Given the description of an element on the screen output the (x, y) to click on. 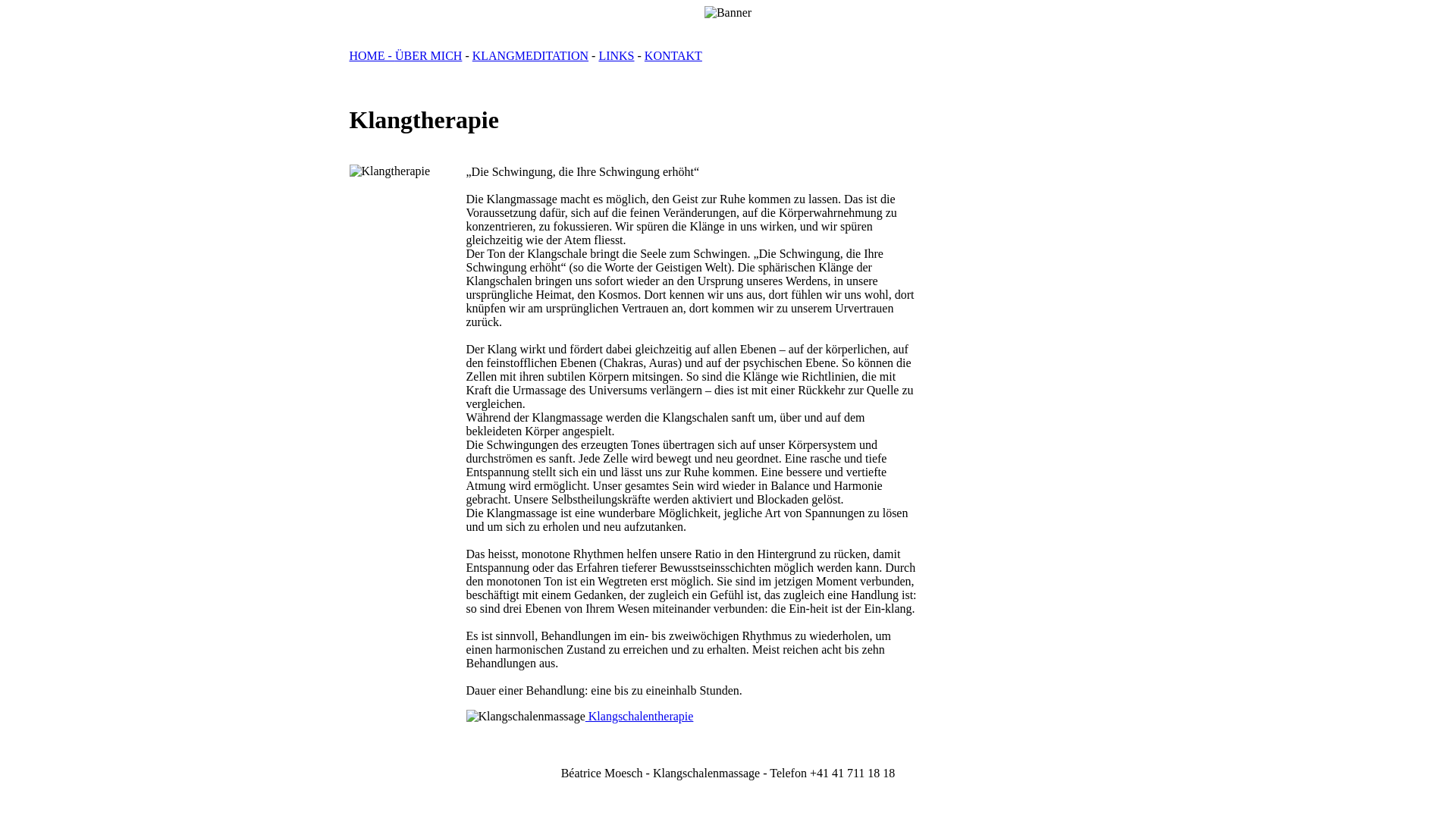
LINKS Element type: text (615, 55)
KONTAKT Element type: text (673, 55)
HOME - Element type: text (371, 55)
Klangschalentherapie Element type: text (639, 715)
KLANGMEDITATION Element type: text (530, 55)
